Given the description of an element on the screen output the (x, y) to click on. 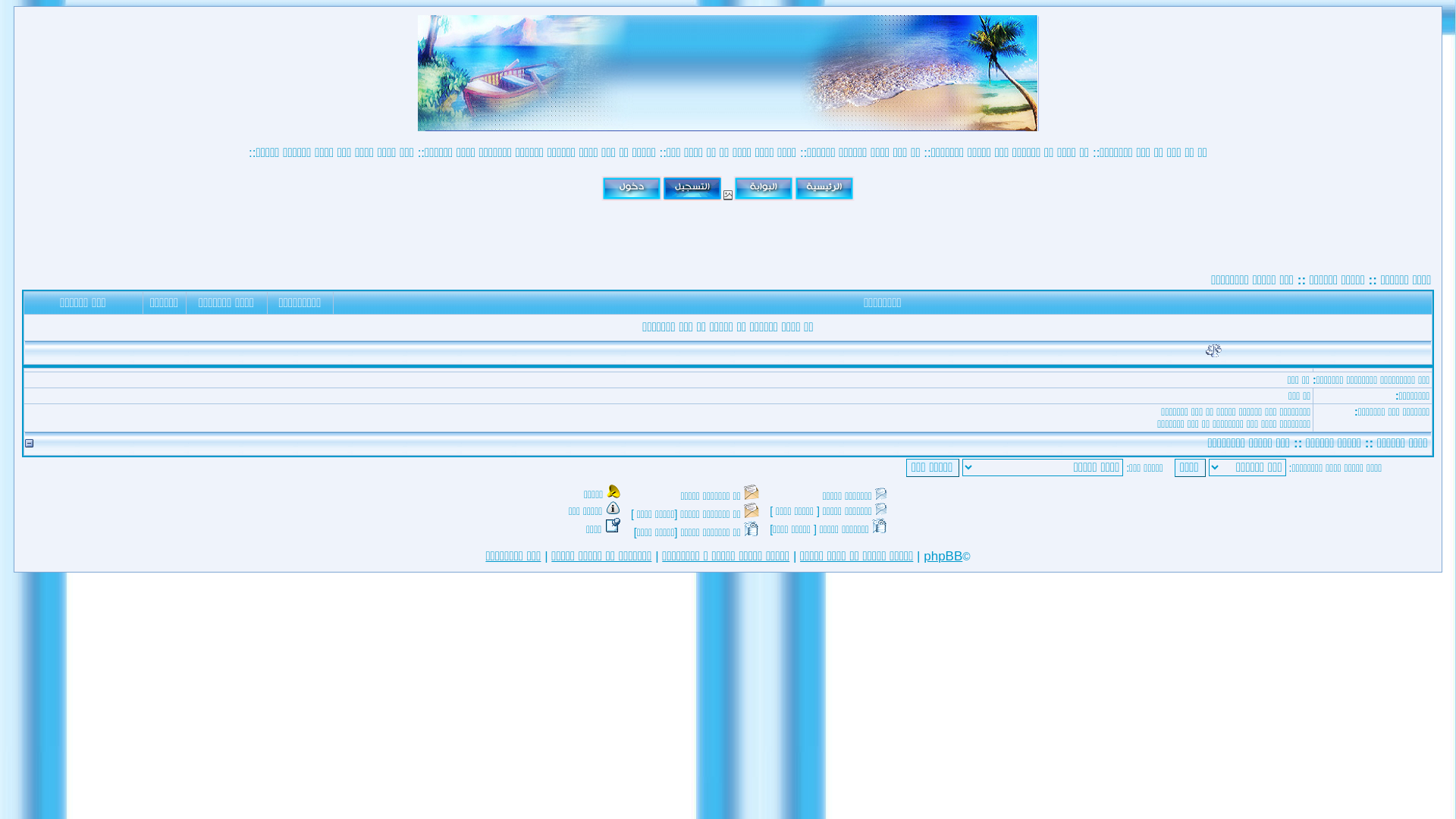
phpBB Element type: text (942, 556)
